Given the description of an element on the screen output the (x, y) to click on. 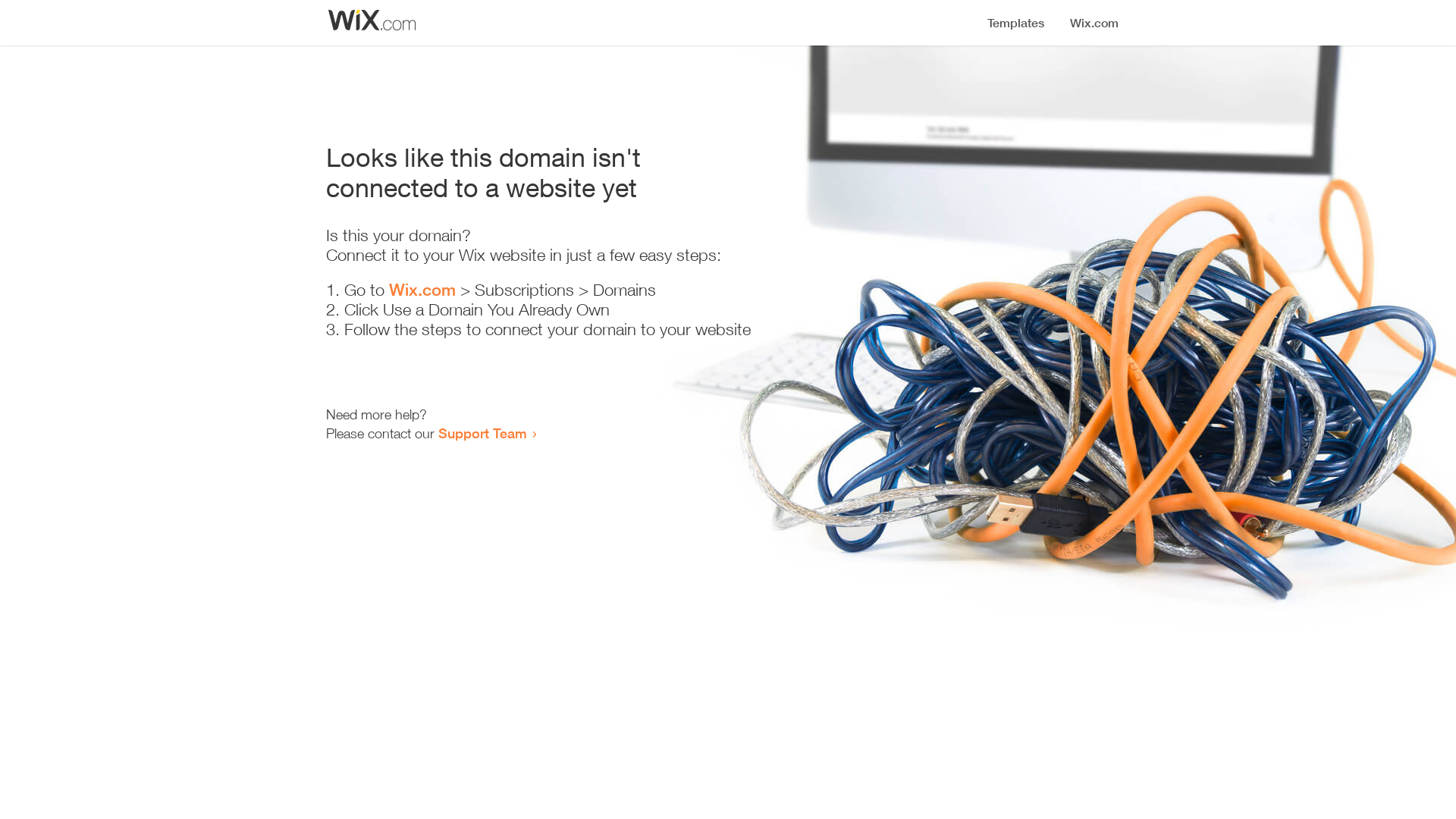
Wix.com Element type: text (422, 289)
Support Team Element type: text (482, 432)
